Given the description of an element on the screen output the (x, y) to click on. 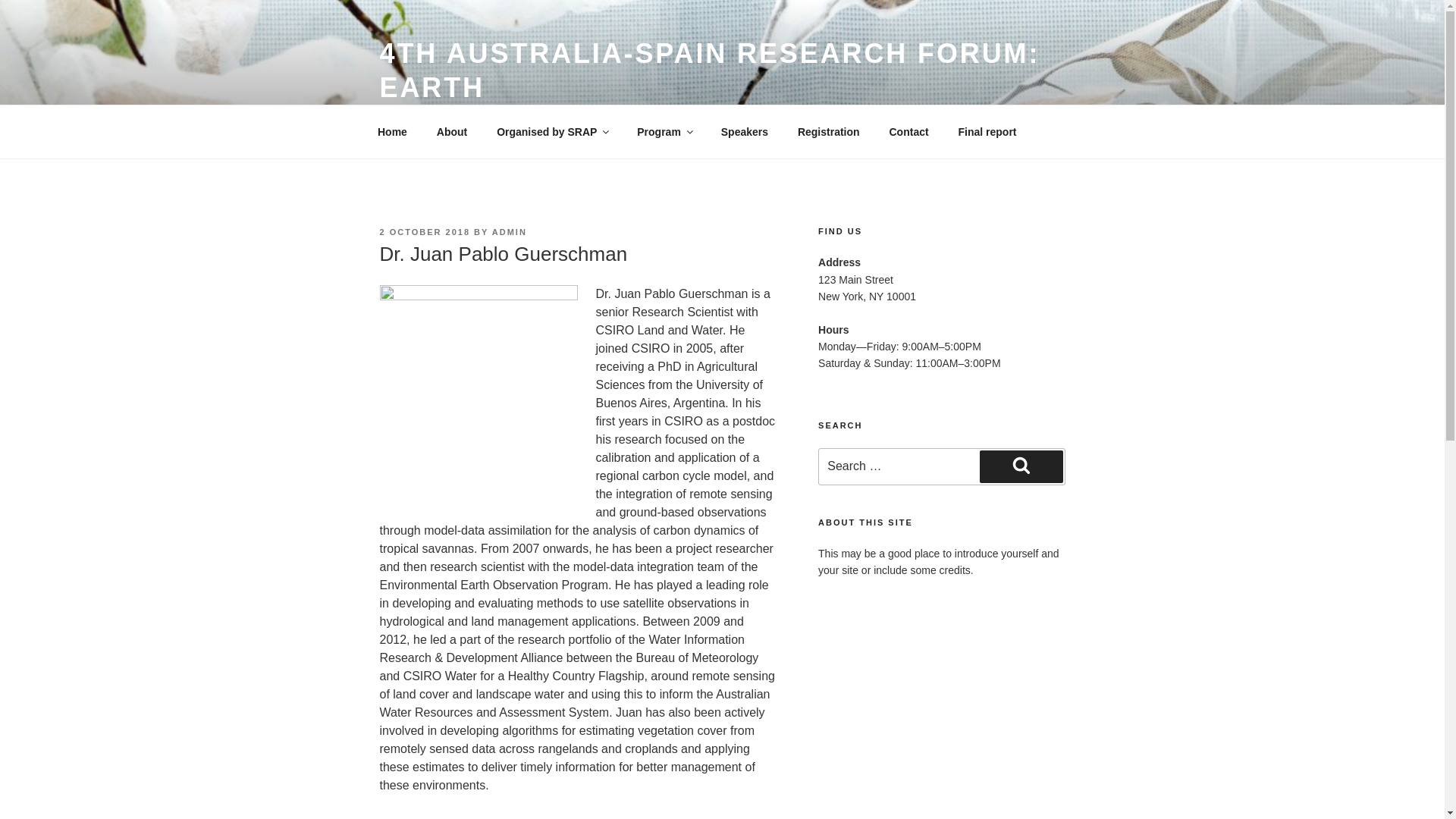
4TH AUSTRALIA-SPAIN RESEARCH FORUM: EARTH (708, 70)
Final report (986, 131)
ADMIN (509, 231)
Organised by SRAP (552, 131)
2 OCTOBER 2018 (424, 231)
Home (392, 131)
Program (664, 131)
About (451, 131)
Registration (828, 131)
Speakers (743, 131)
